Given the description of an element on the screen output the (x, y) to click on. 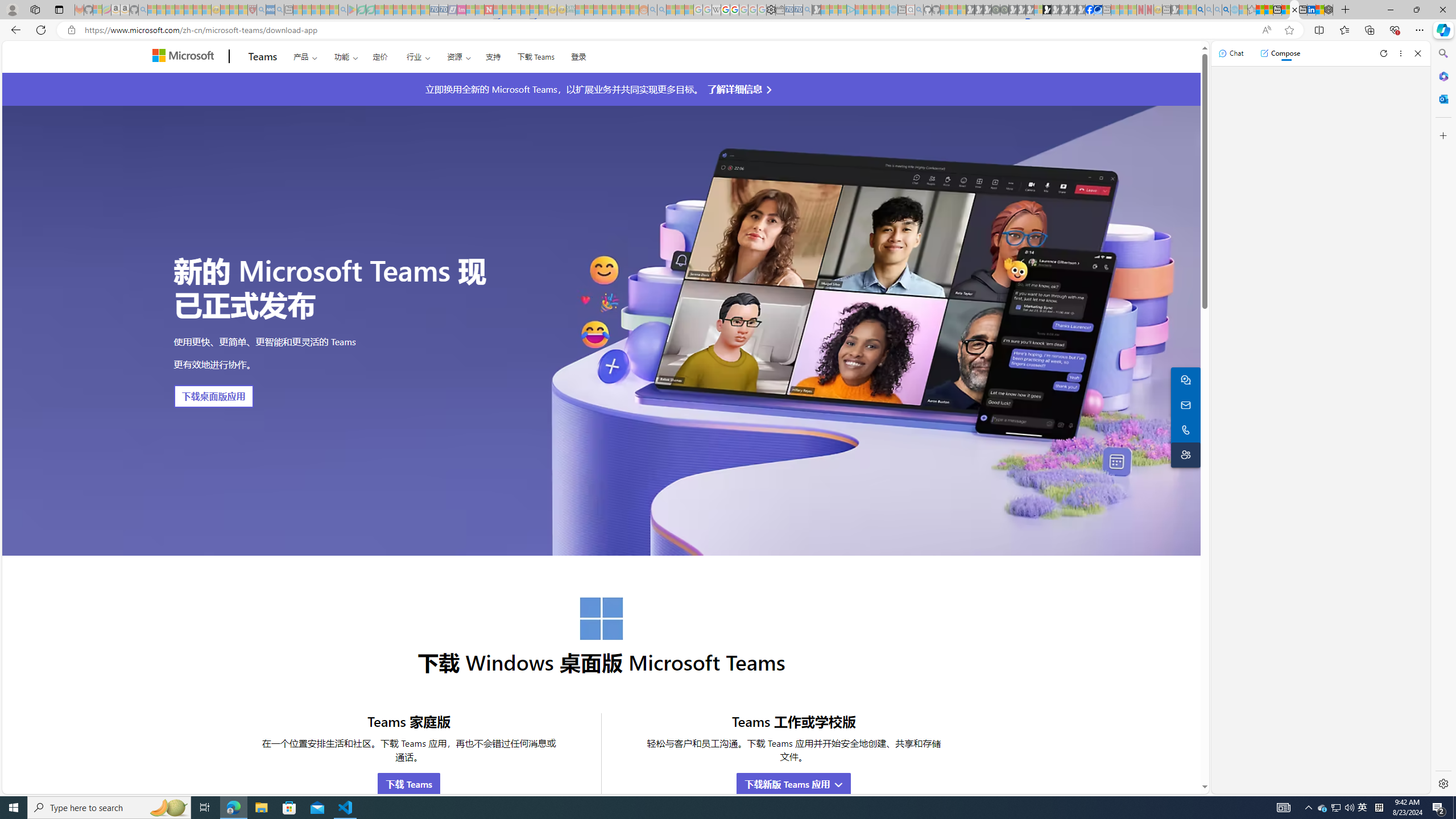
Aberdeen, Hong Kong SAR weather forecast | Microsoft Weather (1268, 9)
Future Focus Report 2024 - Sleeping (1004, 9)
